Given the description of an element on the screen output the (x, y) to click on. 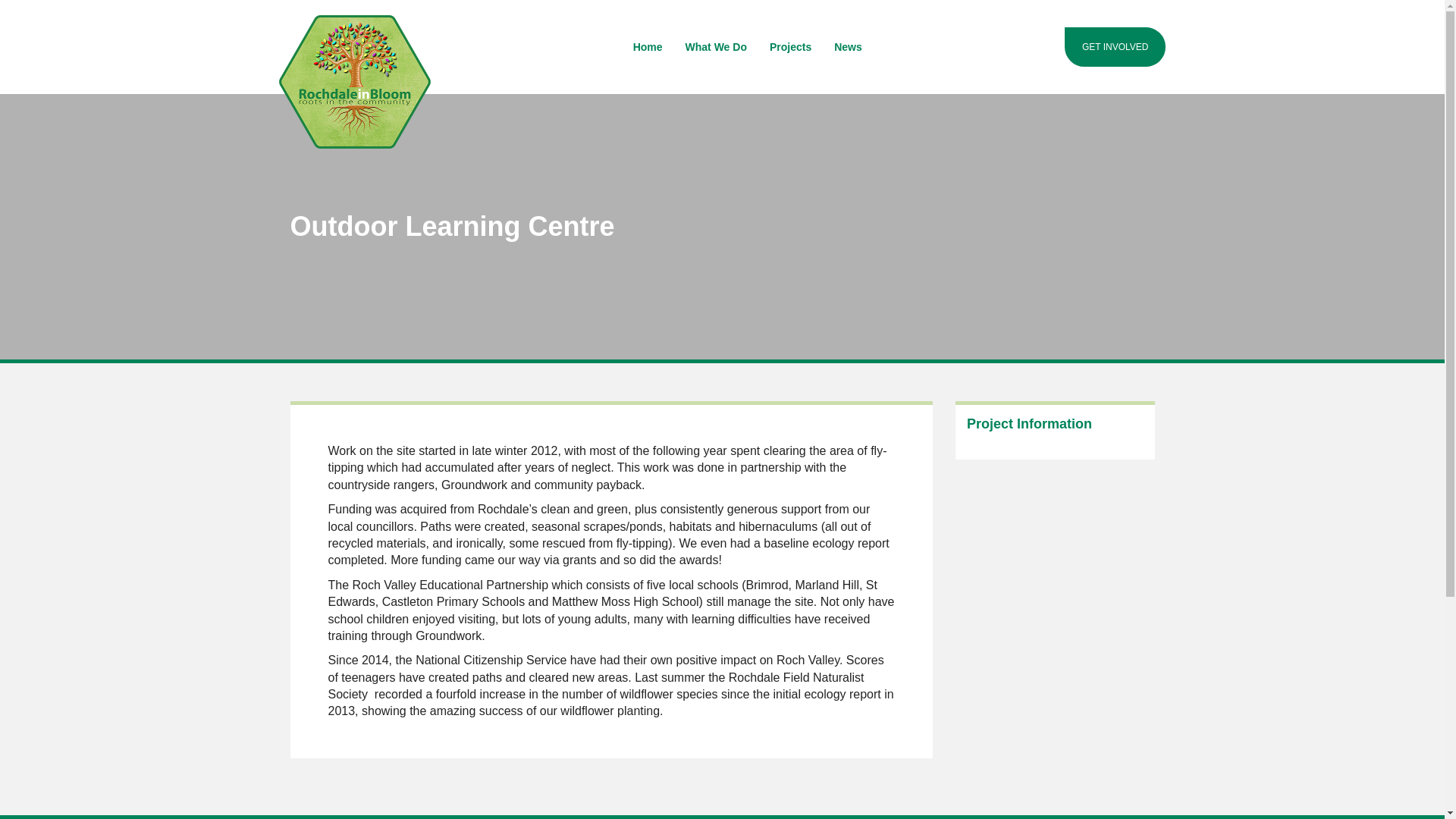
Projects (790, 46)
GET INVOLVED (1115, 46)
What We Do (716, 46)
